Given the description of an element on the screen output the (x, y) to click on. 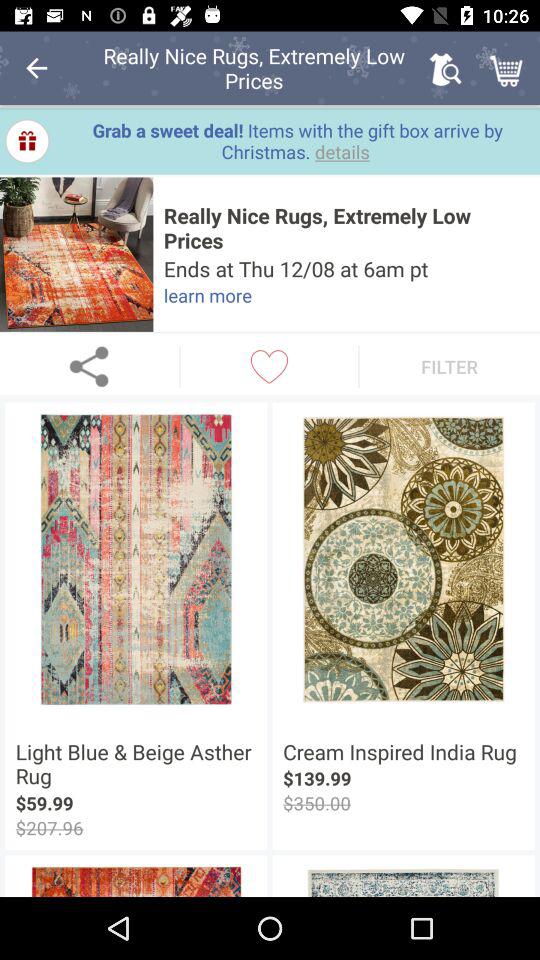
expand image (76, 254)
